Given the description of an element on the screen output the (x, y) to click on. 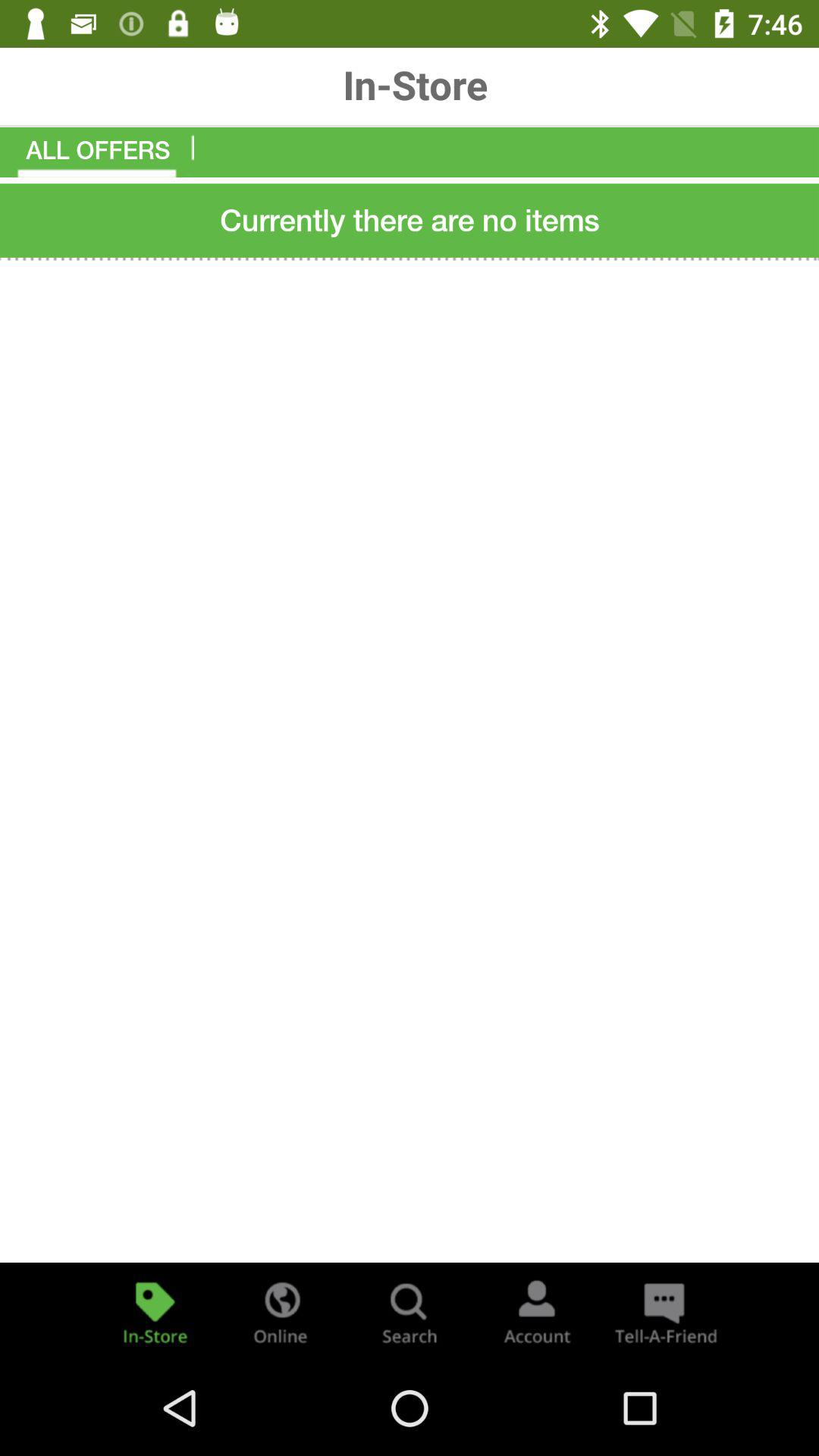
show in-store offers (154, 1311)
